Given the description of an element on the screen output the (x, y) to click on. 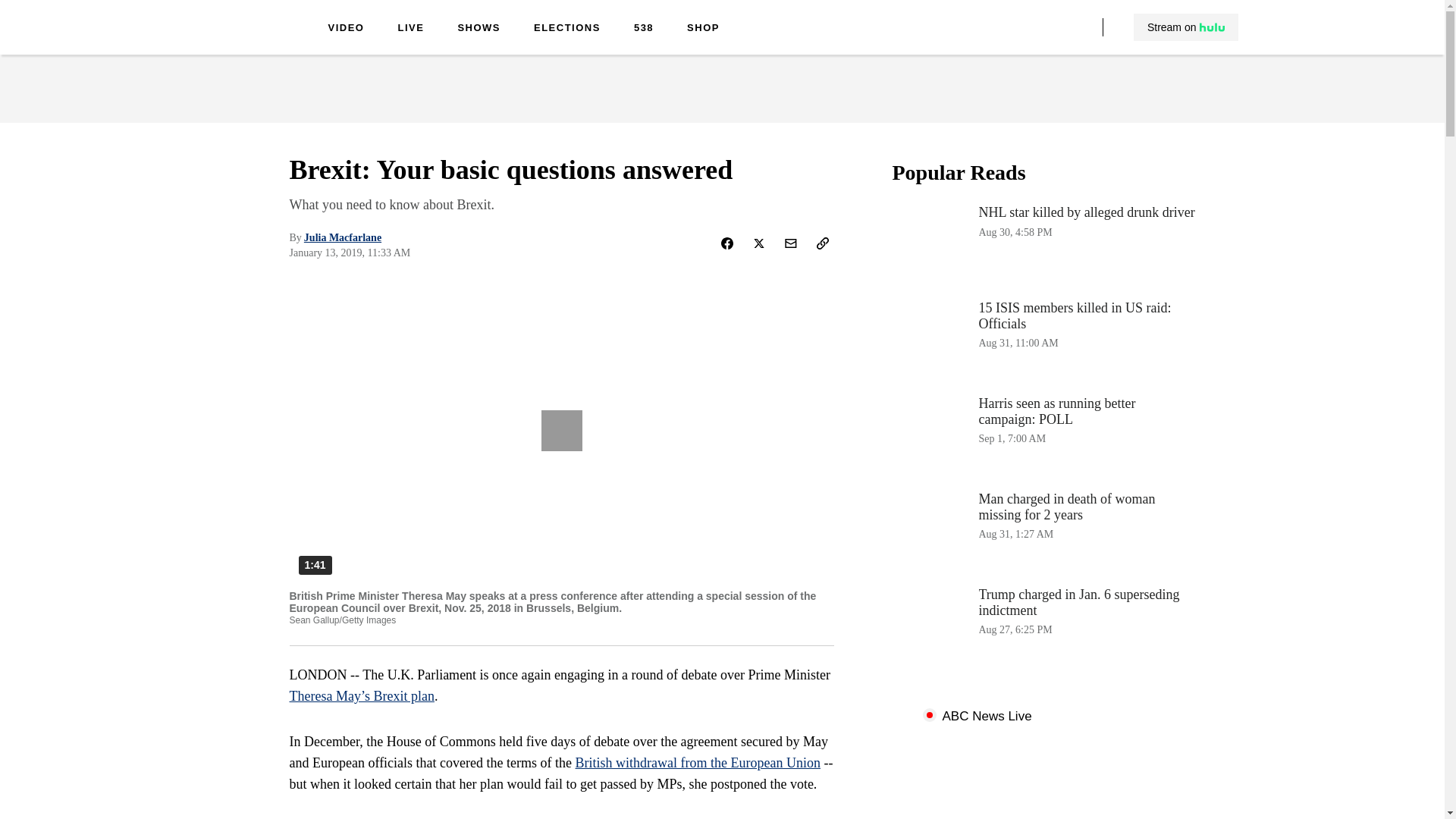
LIVE (410, 28)
SHOP (703, 28)
Stream on (1186, 26)
ELECTIONS (566, 28)
Stream on (1185, 27)
British withdrawal from the European Union (1043, 434)
